Given the description of an element on the screen output the (x, y) to click on. 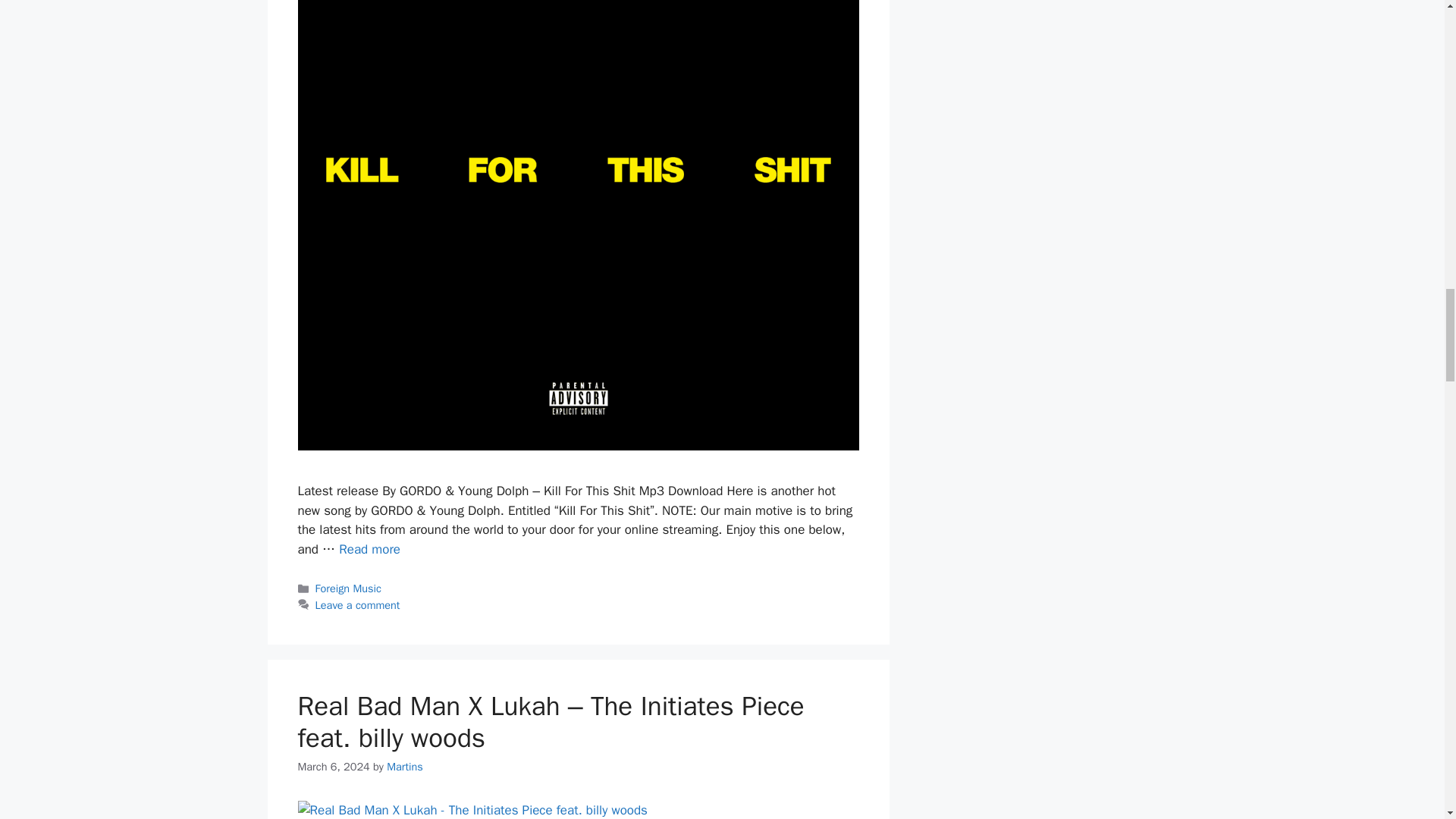
Martins (405, 766)
Leave a comment (357, 604)
Foreign Music (348, 588)
Read more (369, 549)
View all posts by Martins (405, 766)
